Given the description of an element on the screen output the (x, y) to click on. 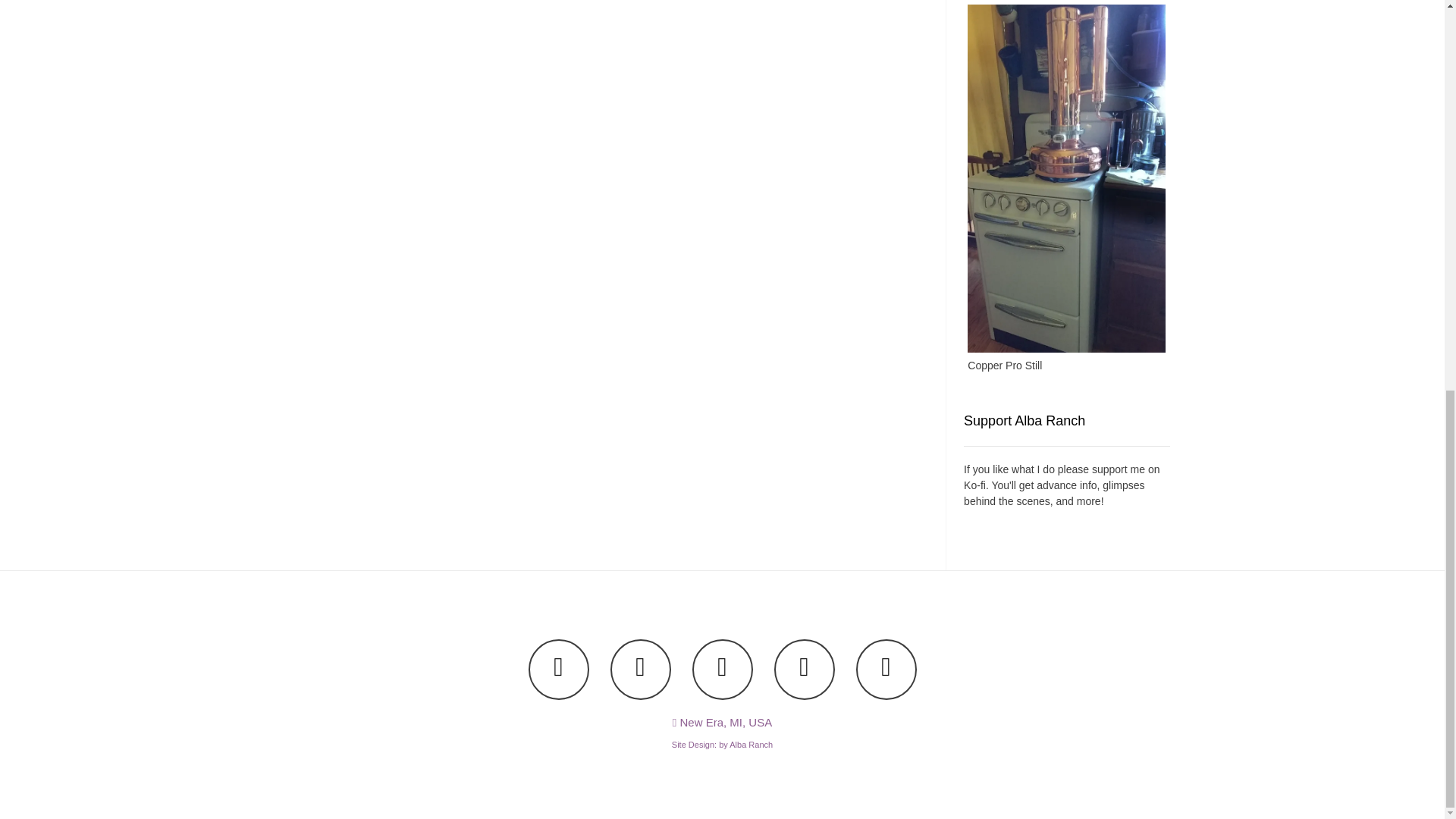
Find Us on Facebook (639, 669)
Follow Us on Instagram (803, 669)
Send Us an Email (557, 669)
View our YouTube Channel (721, 669)
Pin Us on Pinterest (885, 669)
